Given the description of an element on the screen output the (x, y) to click on. 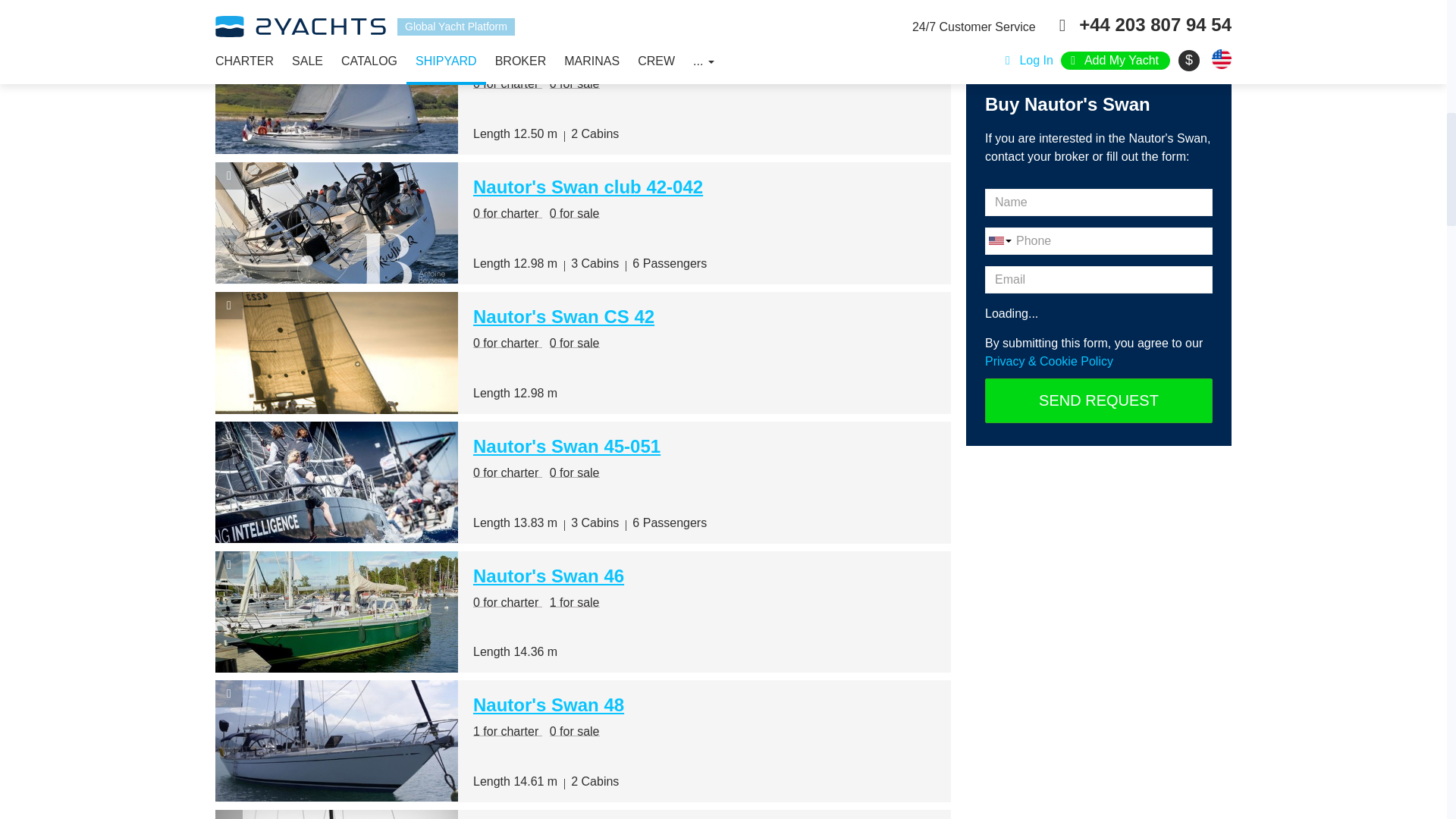
Compare (229, 175)
Compare (229, 693)
Compare (229, 814)
Compare (229, 434)
Compare (229, 305)
Compare (229, 564)
Compare (229, 45)
